Given the description of an element on the screen output the (x, y) to click on. 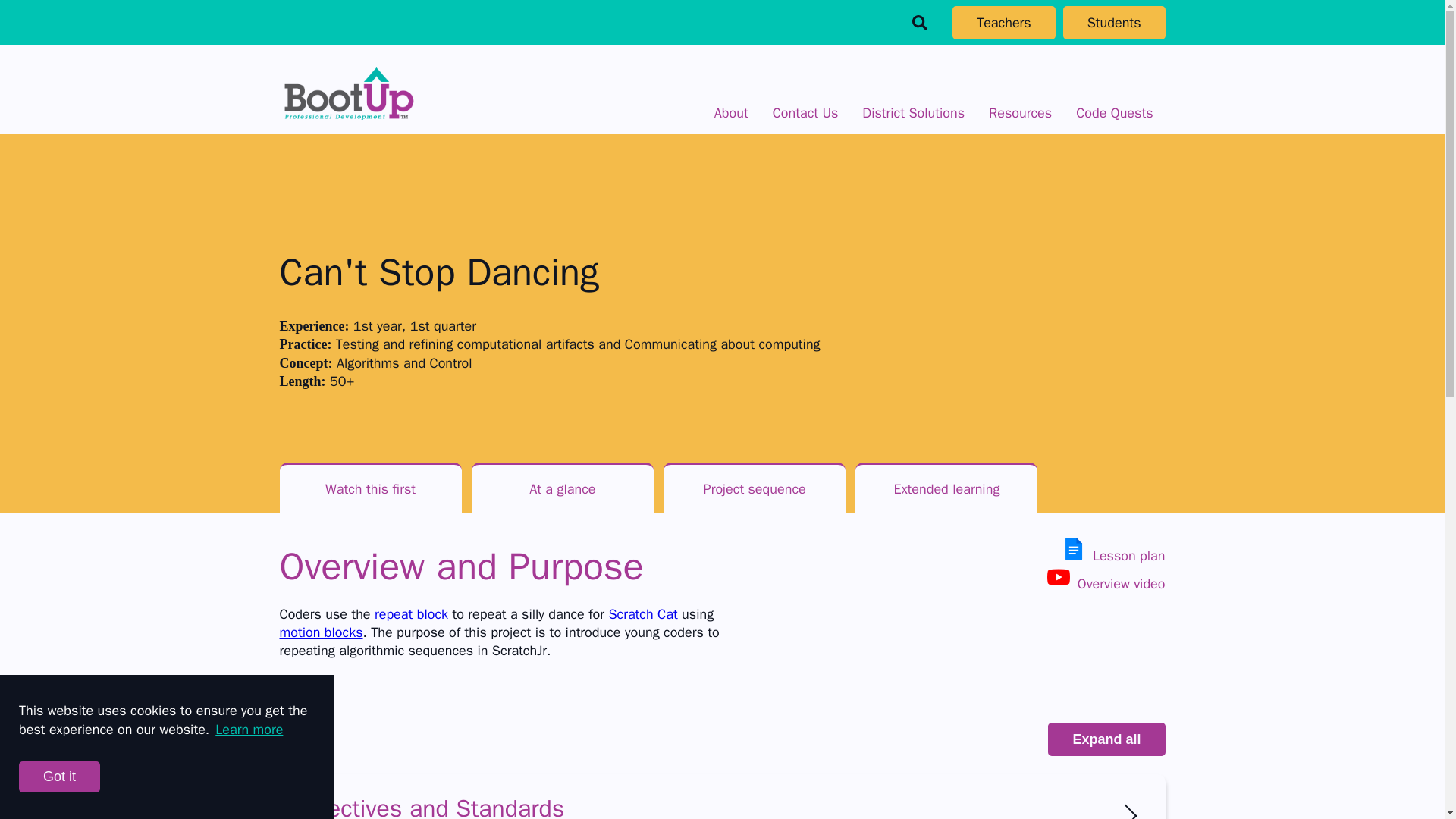
Code Quests (1114, 112)
Extended learning (946, 487)
District Solutions (912, 112)
Scratch Cat (642, 614)
Contact Us (805, 112)
About (731, 112)
Got it (59, 776)
repeat block (411, 614)
Watch this first (370, 487)
Students (1114, 22)
